Given the description of an element on the screen output the (x, y) to click on. 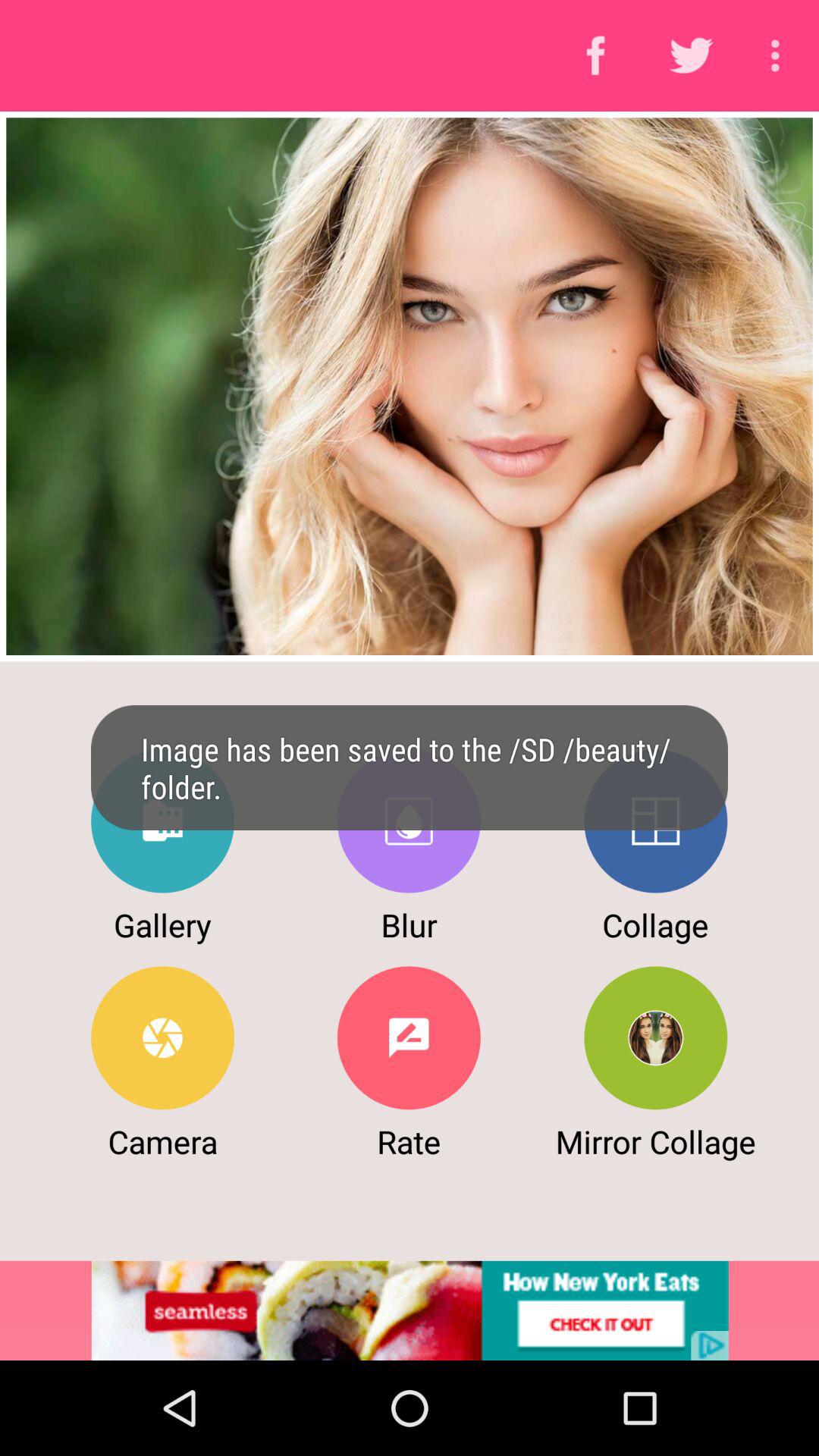
go to gellery (162, 820)
